Given the description of an element on the screen output the (x, y) to click on. 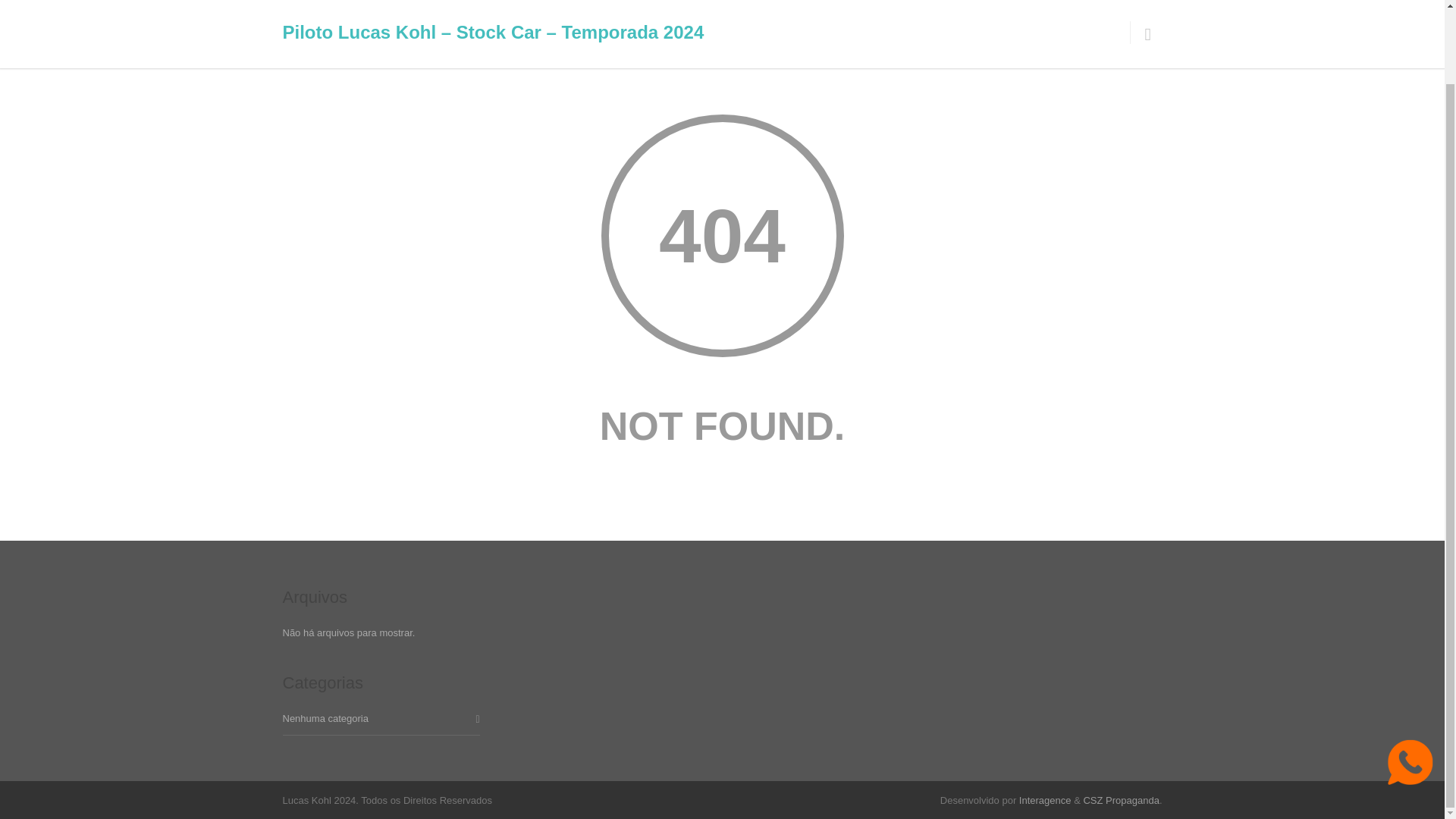
Piloto Lucas Kohl - Stock Car - Temporada 2024 (1015, 12)
Interagence (1045, 799)
CSZ Propaganda (1120, 799)
